Given the description of an element on the screen output the (x, y) to click on. 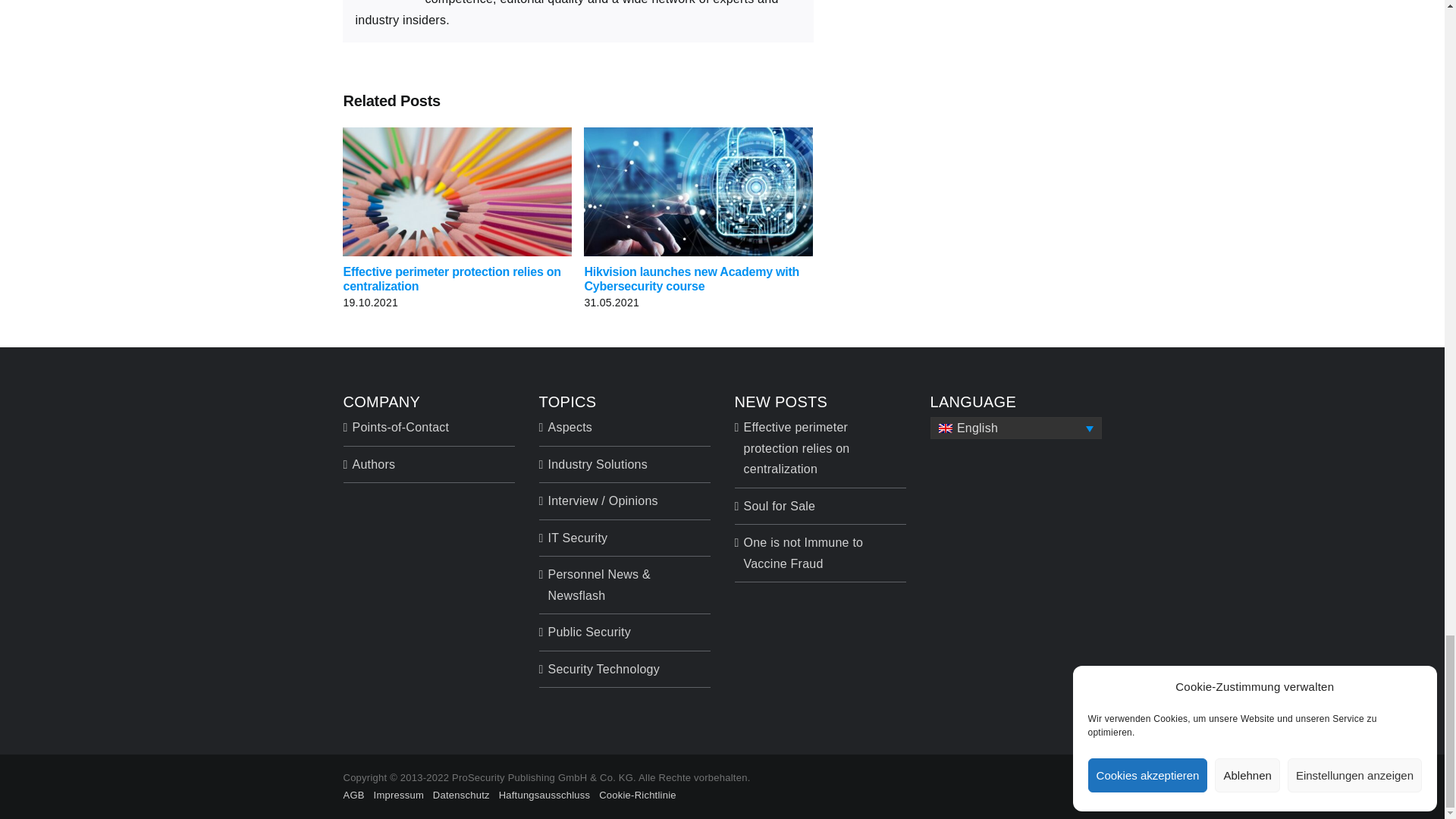
Effective perimeter protection relies on centralization (451, 278)
Hikvision launches new Academy with Cybersecurity course (691, 278)
